Given the description of an element on the screen output the (x, y) to click on. 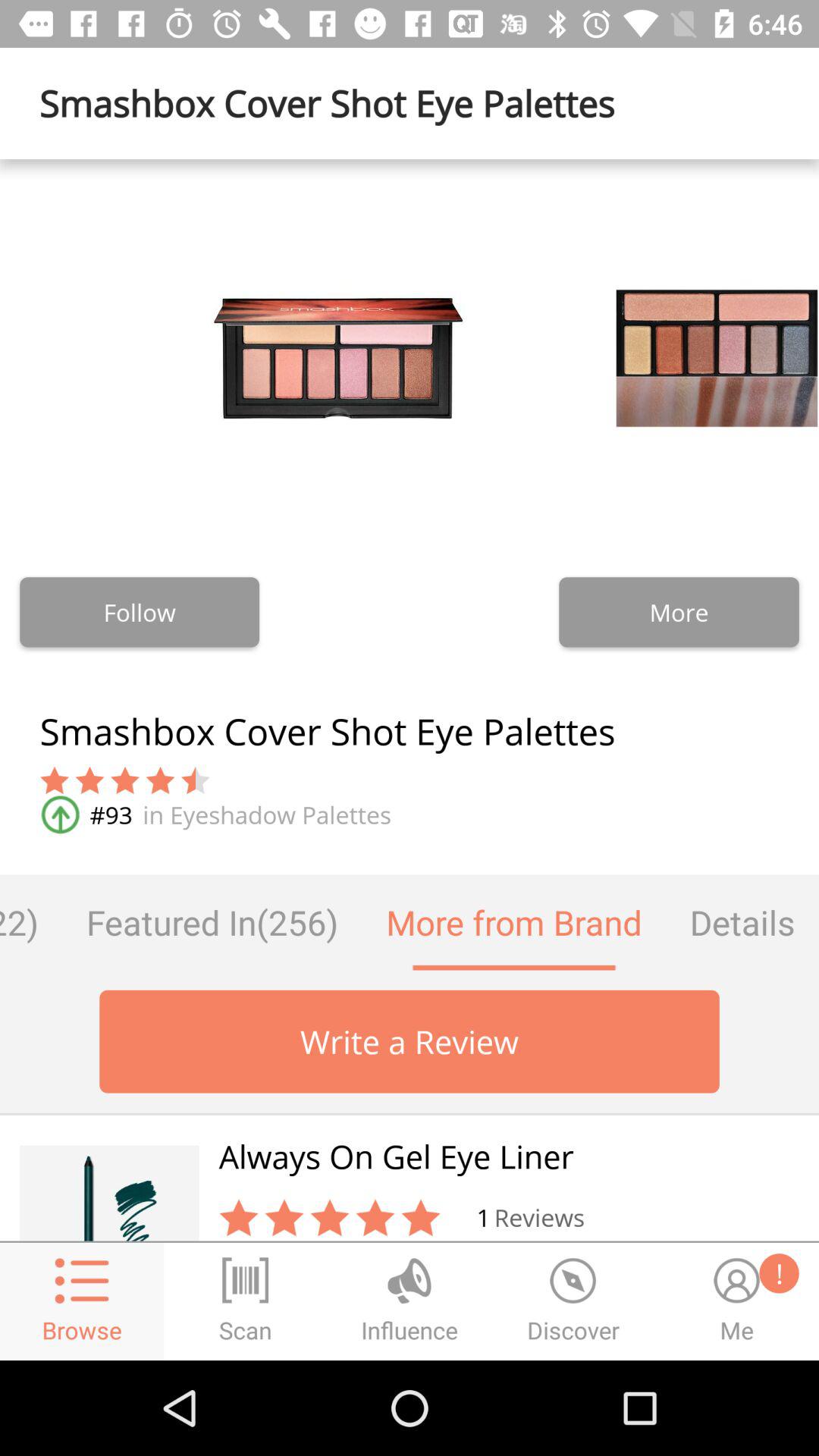
select item above write a review (742, 922)
